Given the description of an element on the screen output the (x, y) to click on. 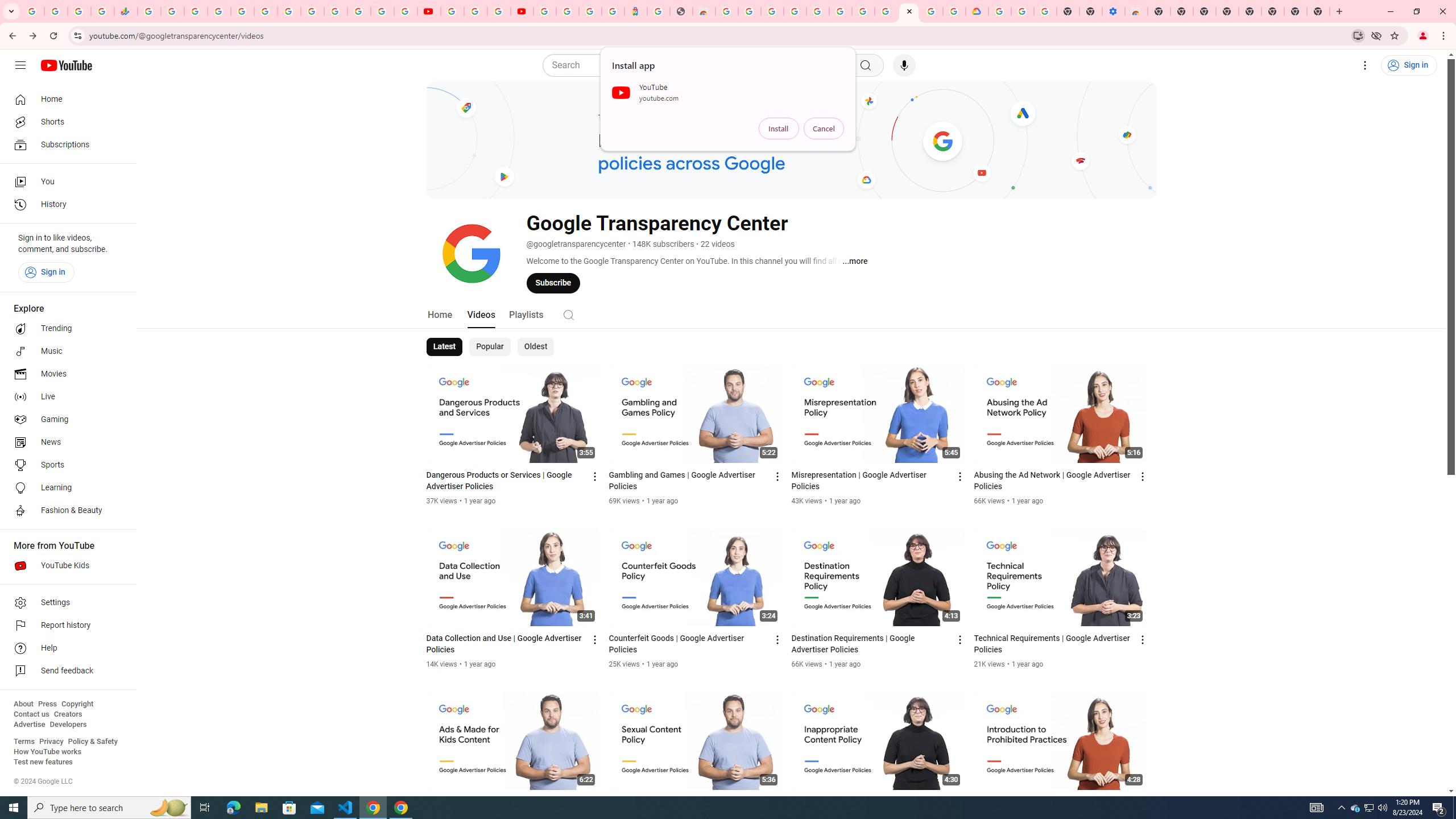
Privacy Checkup (405, 11)
Android TV Policies and Guidelines - Transparency Center (885, 11)
Press (46, 703)
Shorts (64, 121)
Install YouTube (1358, 35)
Live (64, 396)
Content Creator Programs & Opportunities - YouTube Creators (521, 11)
Google Account Help (1022, 11)
Create your Google Account (931, 11)
Popular (489, 346)
Fashion & Beauty (64, 510)
Cancel (823, 128)
